Given the description of an element on the screen output the (x, y) to click on. 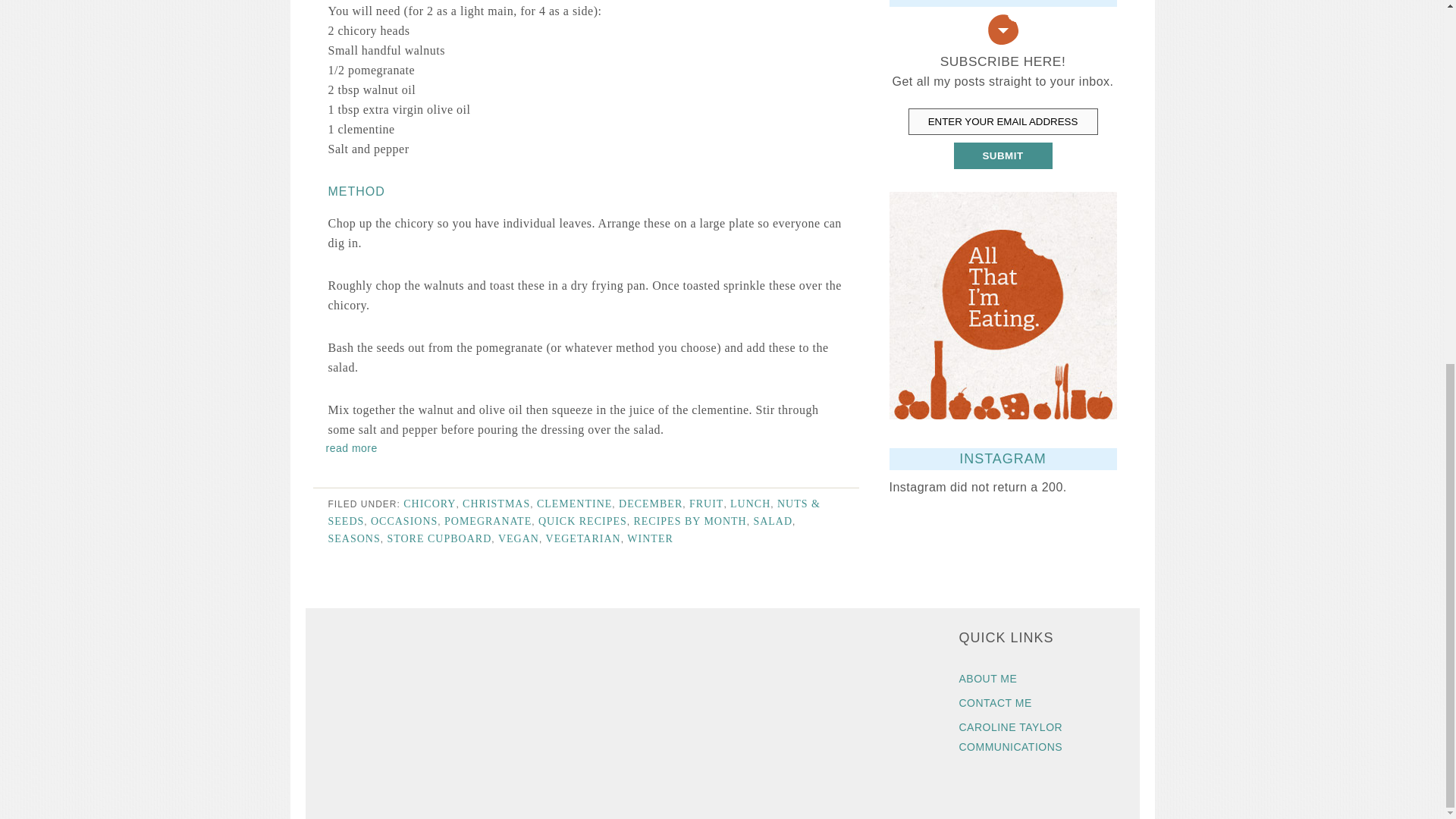
SUBMIT (1002, 155)
FRUIT (705, 503)
DECEMBER (650, 503)
OCCASIONS (404, 521)
QUICK RECIPES (582, 521)
read more (351, 448)
RECIPES BY MONTH (689, 521)
CHICORY (429, 503)
SUBMIT (1002, 155)
POMEGRANATE (487, 521)
